Given the description of an element on the screen output the (x, y) to click on. 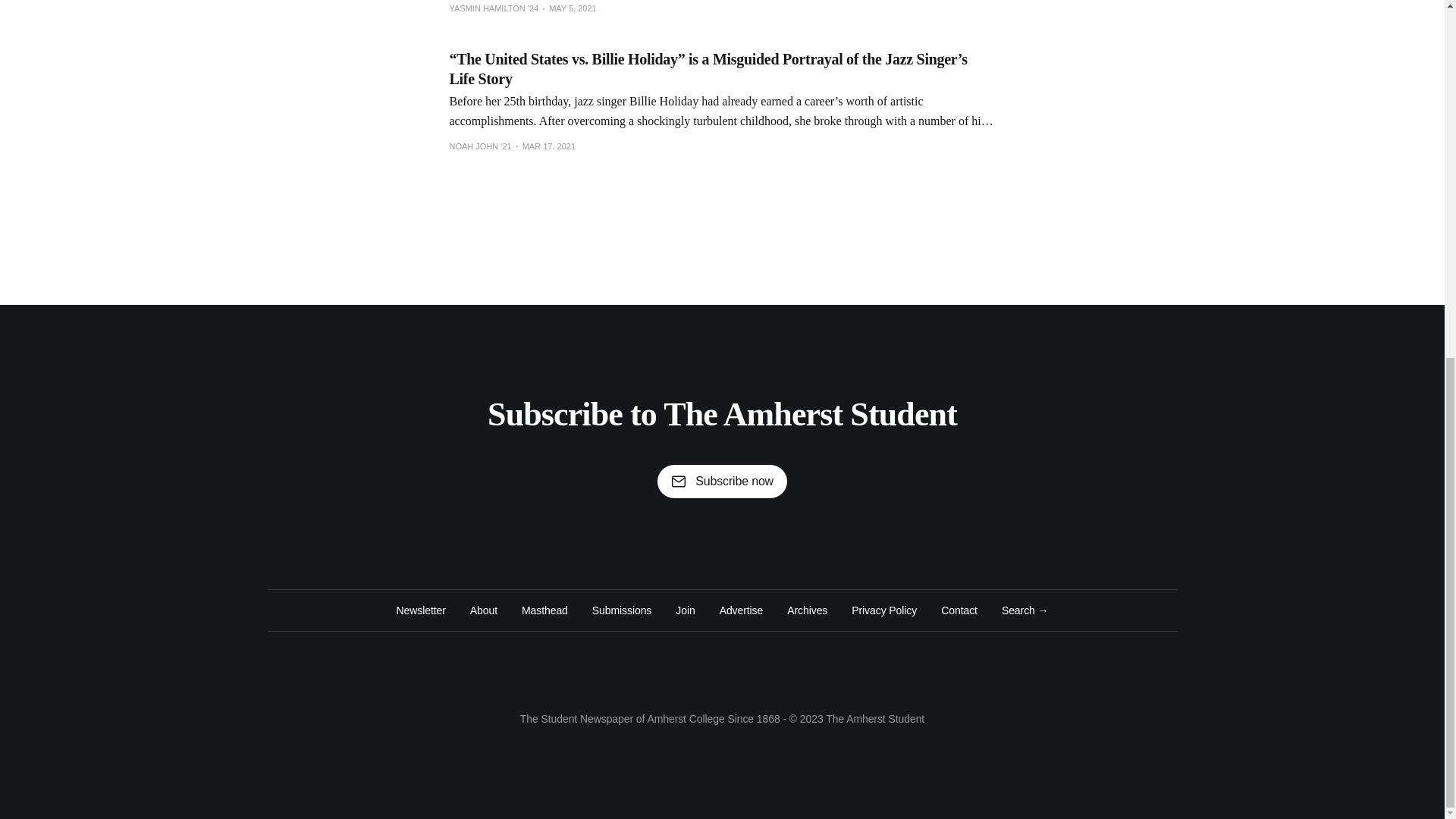
Advertise (740, 610)
Privacy Policy (884, 610)
Contact (958, 610)
Masthead (544, 610)
Join (684, 610)
Newsletter (420, 610)
Submissions (621, 610)
Subscribe now (722, 481)
Archives (807, 610)
